Given the description of an element on the screen output the (x, y) to click on. 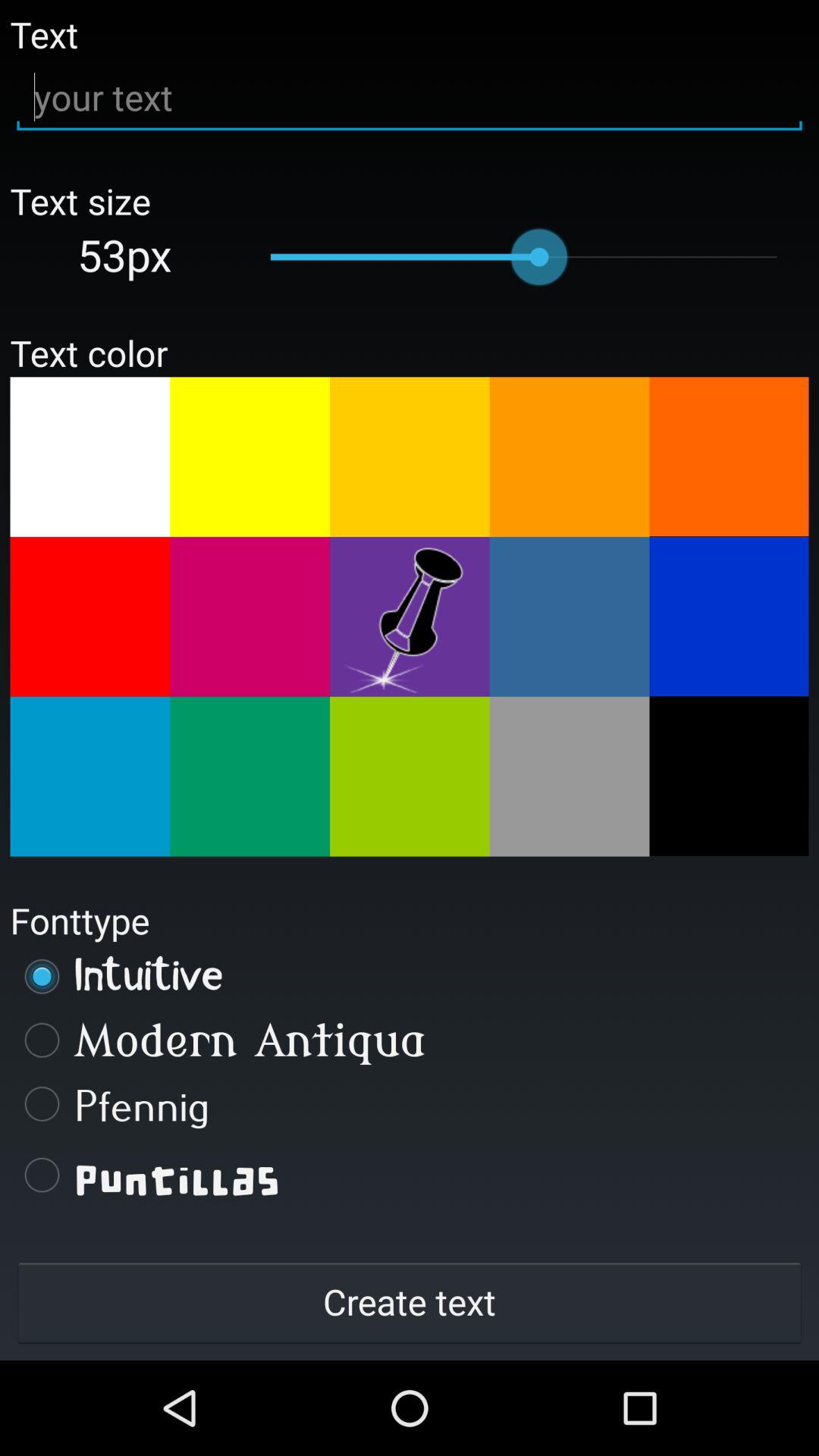
select current color (409, 616)
